Given the description of an element on the screen output the (x, y) to click on. 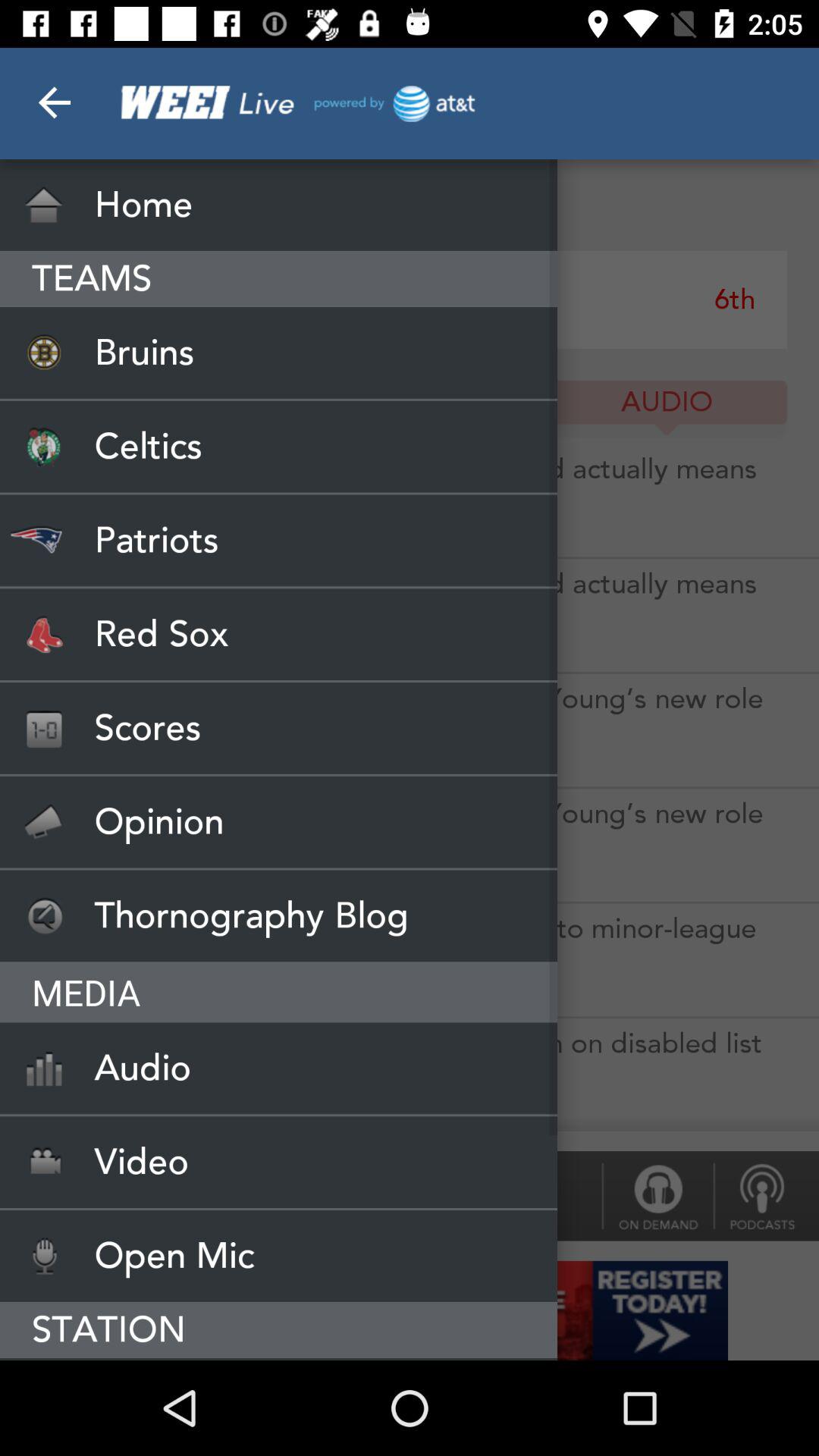
select the text podcasts along with its icon (766, 1196)
